Given the description of an element on the screen output the (x, y) to click on. 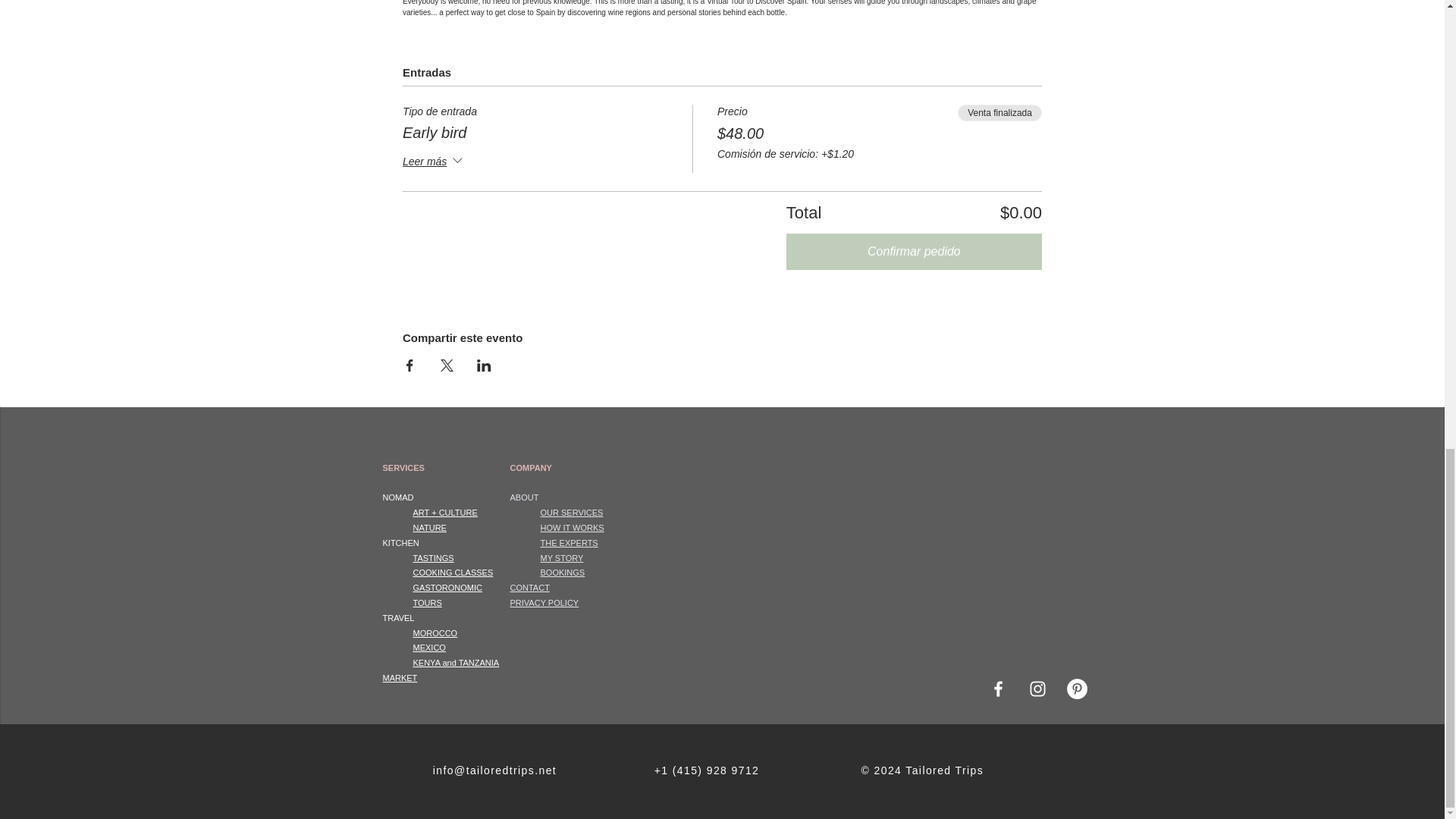
MARKET (398, 677)
NATURE (428, 527)
HOW IT WORKS (572, 527)
CONTACT (528, 587)
BOOKINGS (562, 572)
COOKING CLASSES (452, 572)
TASTINGS (432, 557)
Confirmar pedido (914, 251)
MY STORY (561, 557)
PRIVACY POLICY (543, 602)
